Given the description of an element on the screen output the (x, y) to click on. 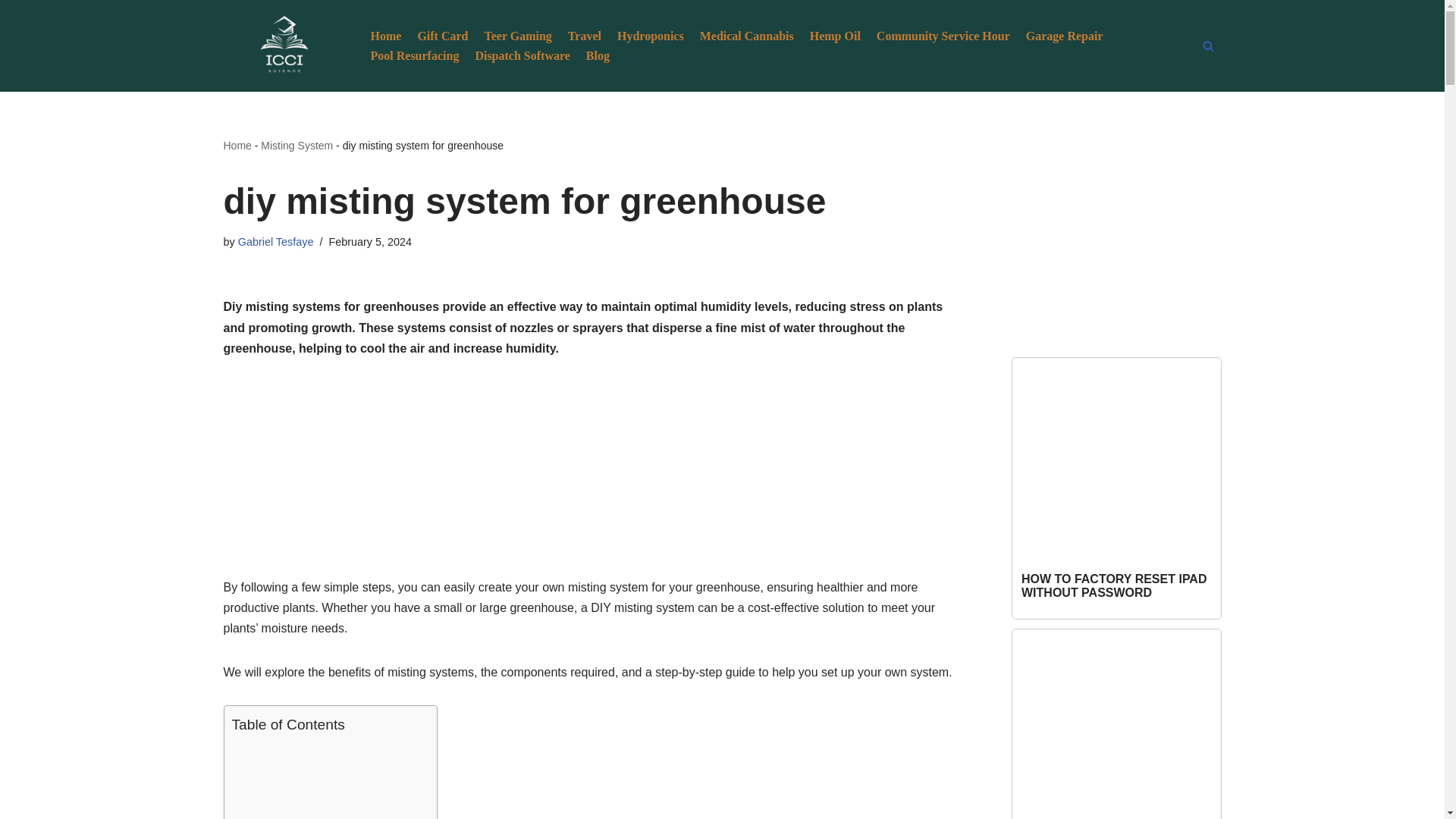
Posts by Gabriel Tesfaye (276, 241)
Dispatch Software (521, 55)
Home (385, 35)
Garage Repair (1064, 35)
Blog (598, 55)
Hydroponics (650, 35)
Skip to content (11, 31)
Pool Resurfacing (413, 55)
Hemp Oil (834, 35)
Home (236, 145)
Gabriel Tesfaye (276, 241)
Misting System (296, 145)
Medical Cannabis (746, 35)
Travel (584, 35)
